Given the description of an element on the screen output the (x, y) to click on. 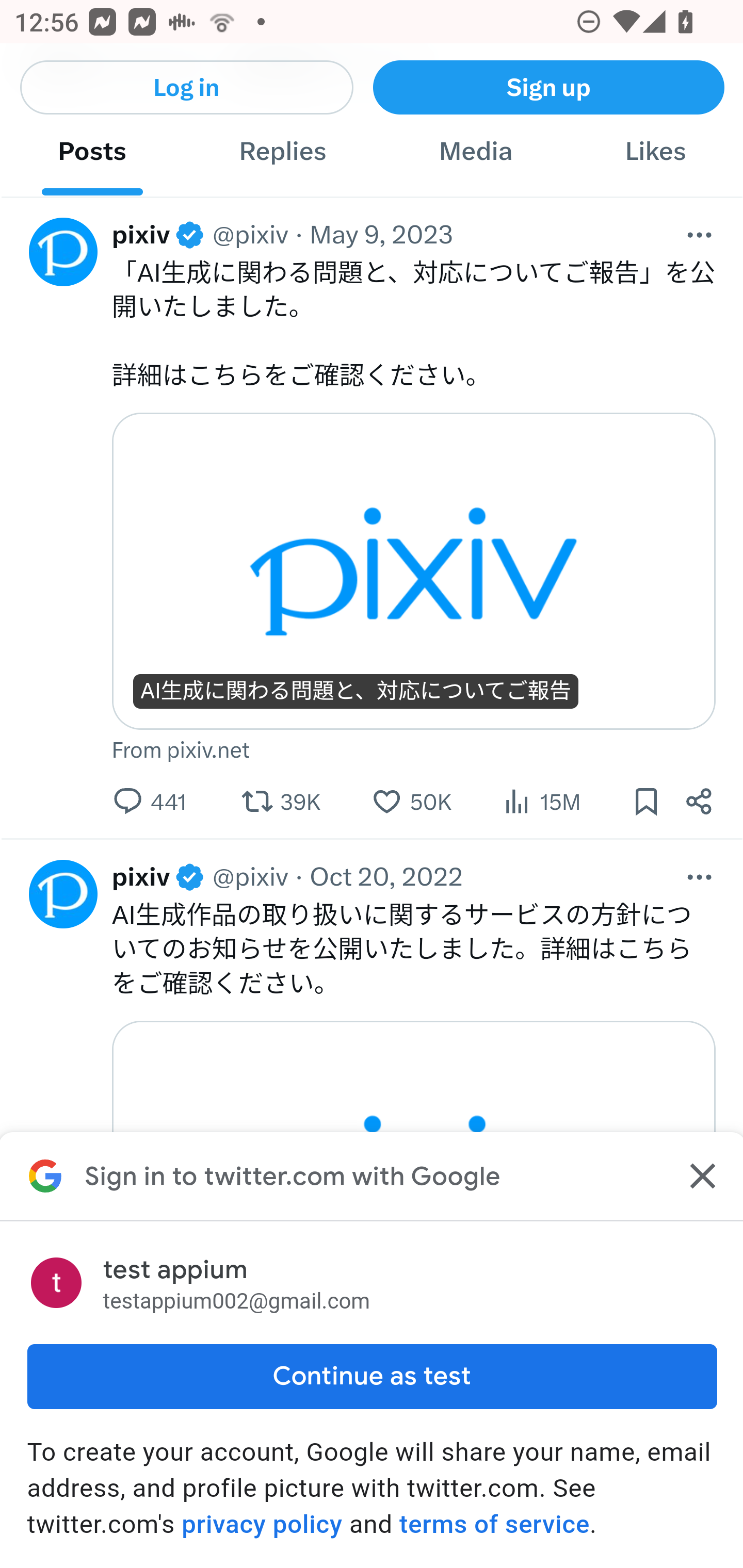
Posts (92, 152)
Replies (283, 152)
Media (475, 152)
Likes (654, 152)
pixiv Verified account pixiv Verified account (158, 235)
@pixiv (250, 235)
May 9, 2023 (381, 235)
More (699, 235)
From pixiv.net From  pixiv.net (412, 750)
441 Replies. Reply (148, 802)
39036 reposts. Repost (280, 802)
50054 Likes. Like (411, 802)
15690704 views. View post analytics 15M (540, 802)
Bookmark (646, 802)
Share post (699, 802)
pixiv Verified account pixiv Verified account (158, 877)
@pixiv (250, 877)
Oct 20, 2022 (385, 877)
More (699, 877)
Close (700, 1175)
Continue as test (371, 1376)
privacy policy (261, 1523)
terms of service (493, 1523)
